Given the description of an element on the screen output the (x, y) to click on. 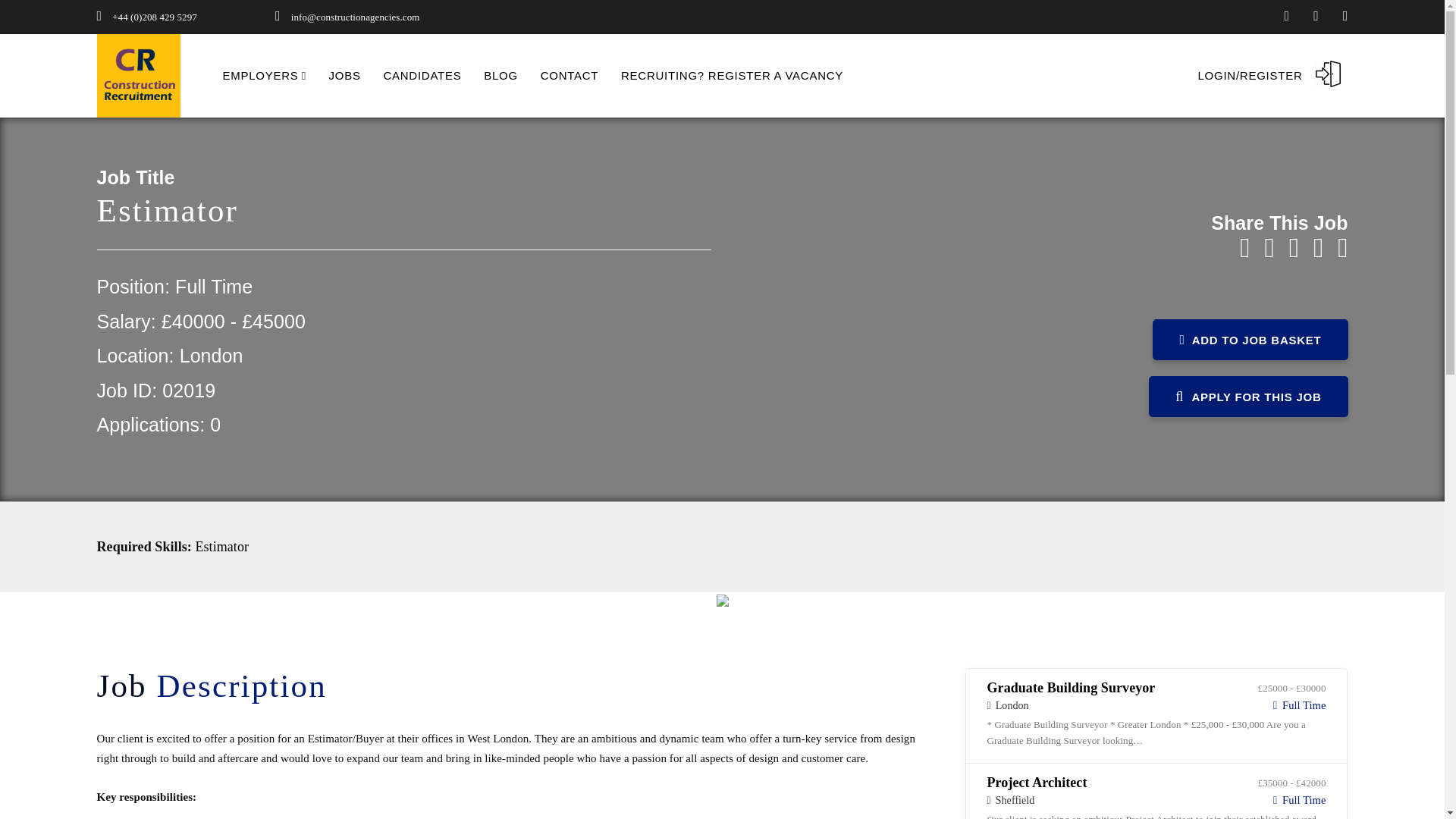
Google Plus (1318, 246)
Login (1201, 313)
Twitter (1293, 246)
BLOG (500, 75)
LinkedIn (1268, 246)
CONTACT (569, 75)
CANDIDATES (421, 75)
Full Time (212, 286)
RECRUITING? REGISTER A VACANCY (732, 75)
JOBS (345, 75)
ADD TO JOB BASKET (1250, 339)
EMPLOYERS (263, 75)
Facebook (1244, 246)
Full Time (1299, 705)
Estimator (229, 546)
